Given the description of an element on the screen output the (x, y) to click on. 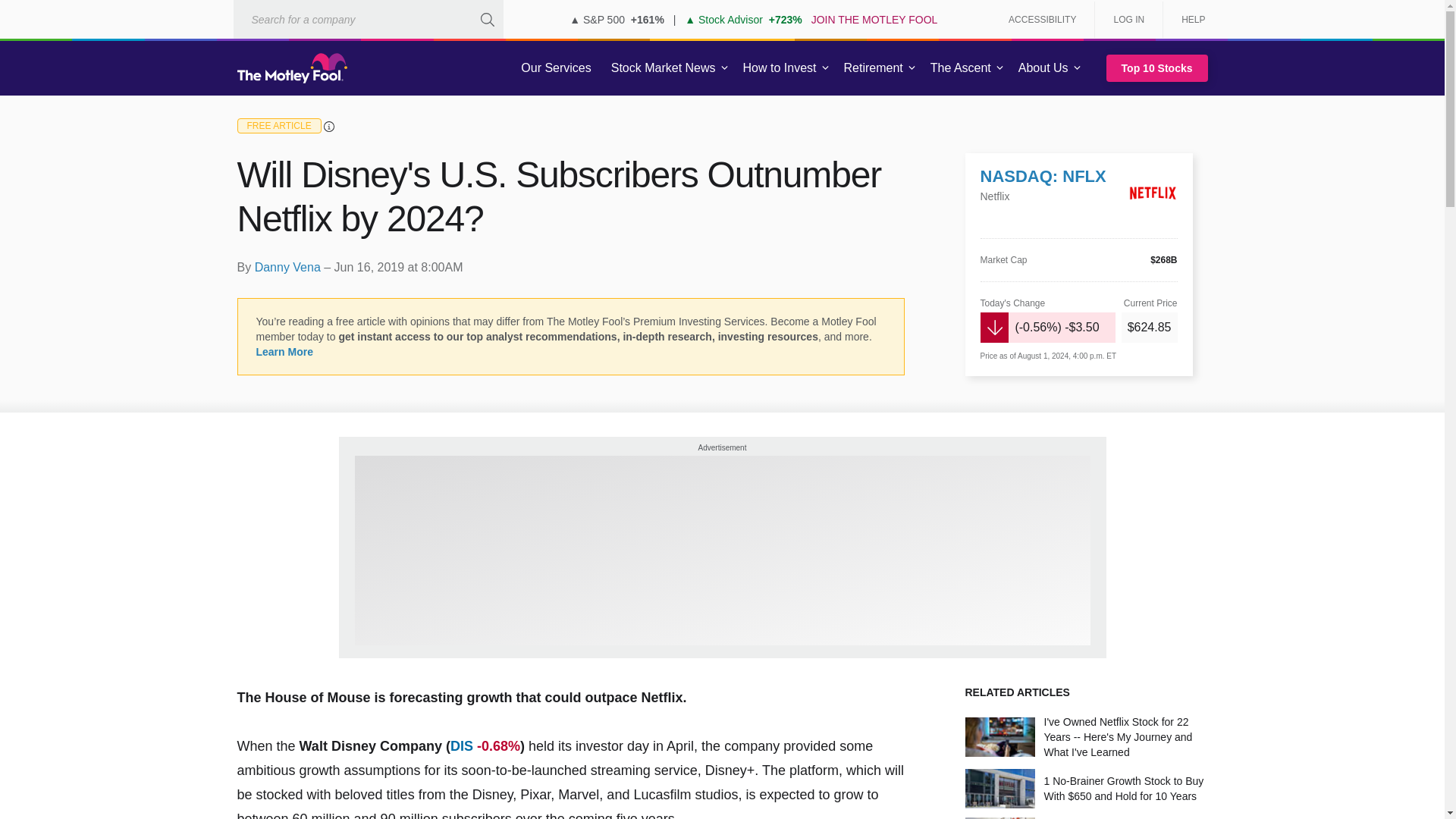
ACCESSIBILITY (1042, 19)
Stock Market News (662, 67)
Our Services (555, 67)
LOG IN (1128, 19)
HELP (1187, 19)
How to Invest (779, 67)
